Given the description of an element on the screen output the (x, y) to click on. 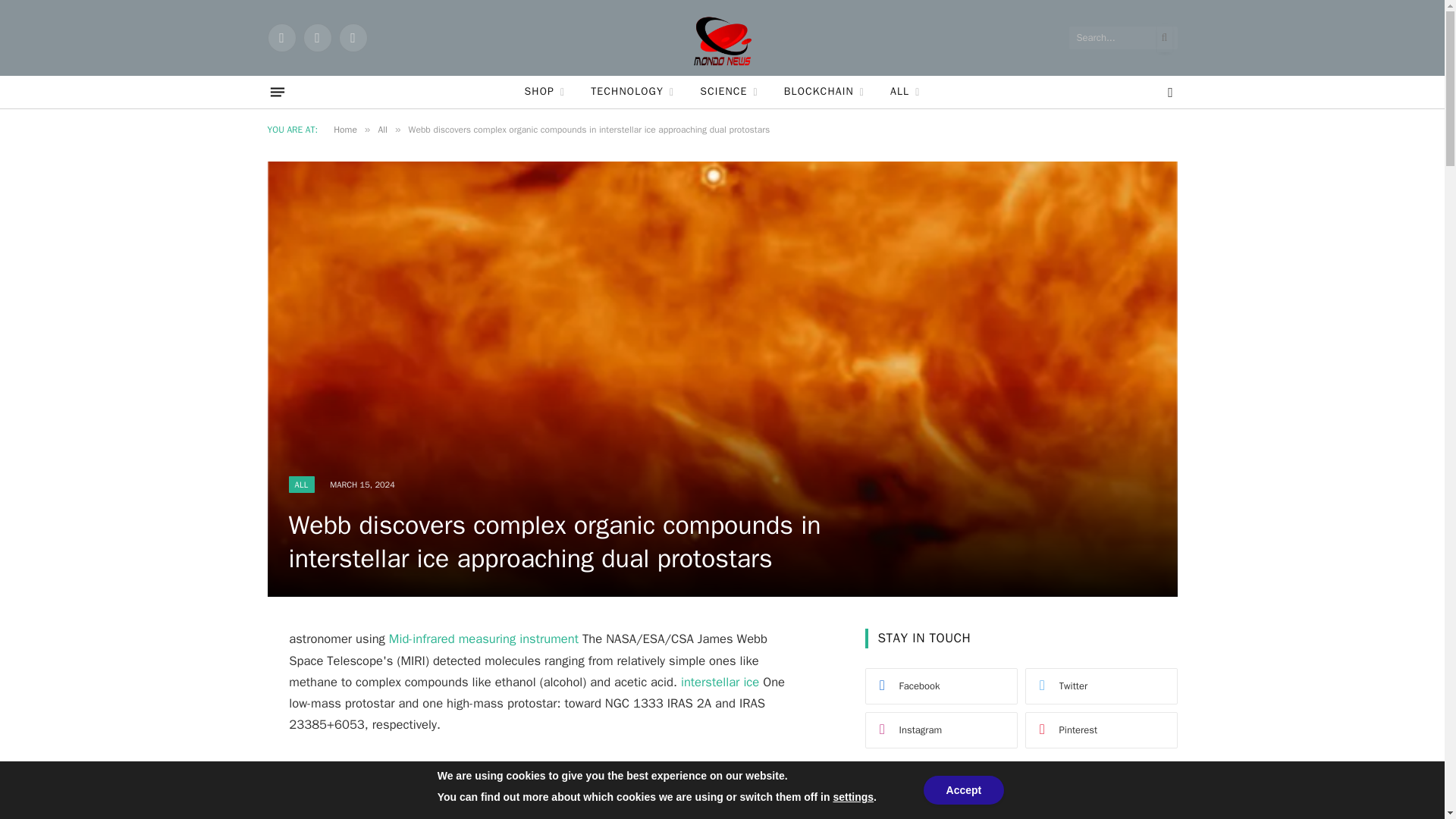
TECHNOLOGY (632, 92)
Instagram (351, 37)
Facebook (280, 37)
Search (1146, 796)
SHOP (545, 92)
Search (1146, 796)
